Given the description of an element on the screen output the (x, y) to click on. 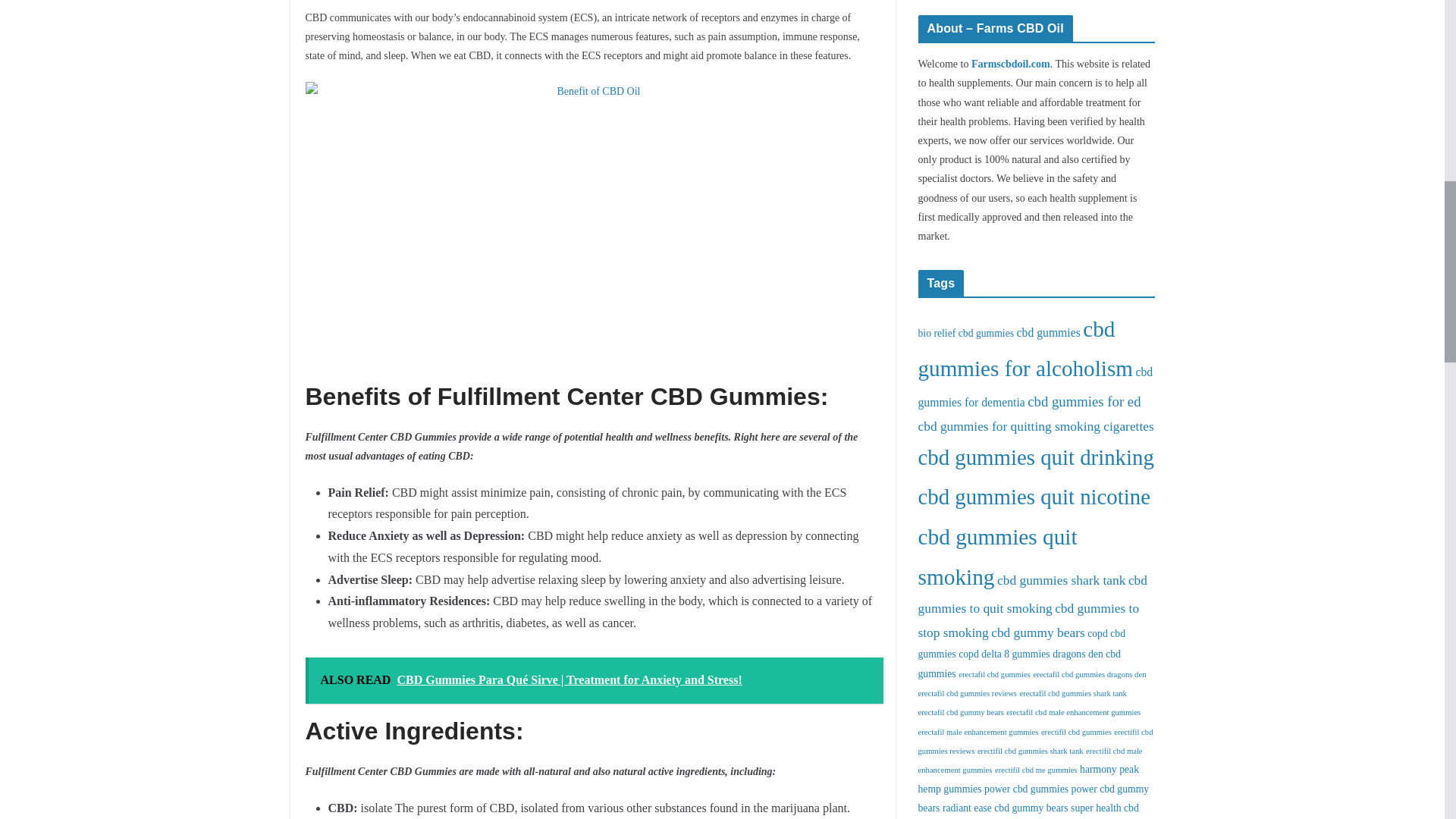
bio relief cbd gummies (965, 333)
cbd gummies for quitting smoking cigarettes (1035, 426)
cbd gummies to quit smoking (1032, 594)
cbd gummies for ed (1083, 401)
cbd gummies to stop smoking (1027, 620)
cbd gummies quit drinking (1035, 457)
cbd gummies shark tank (1061, 580)
cbd gummies for dementia (1035, 386)
cbd gummies quit nicotine (1033, 496)
cbd gummies for alcoholism (1024, 348)
Farmscbdoil.com (1010, 63)
cbd gummy bears (1037, 632)
cbd gummies quit smoking (997, 556)
cbd gummies (1048, 332)
